Given the description of an element on the screen output the (x, y) to click on. 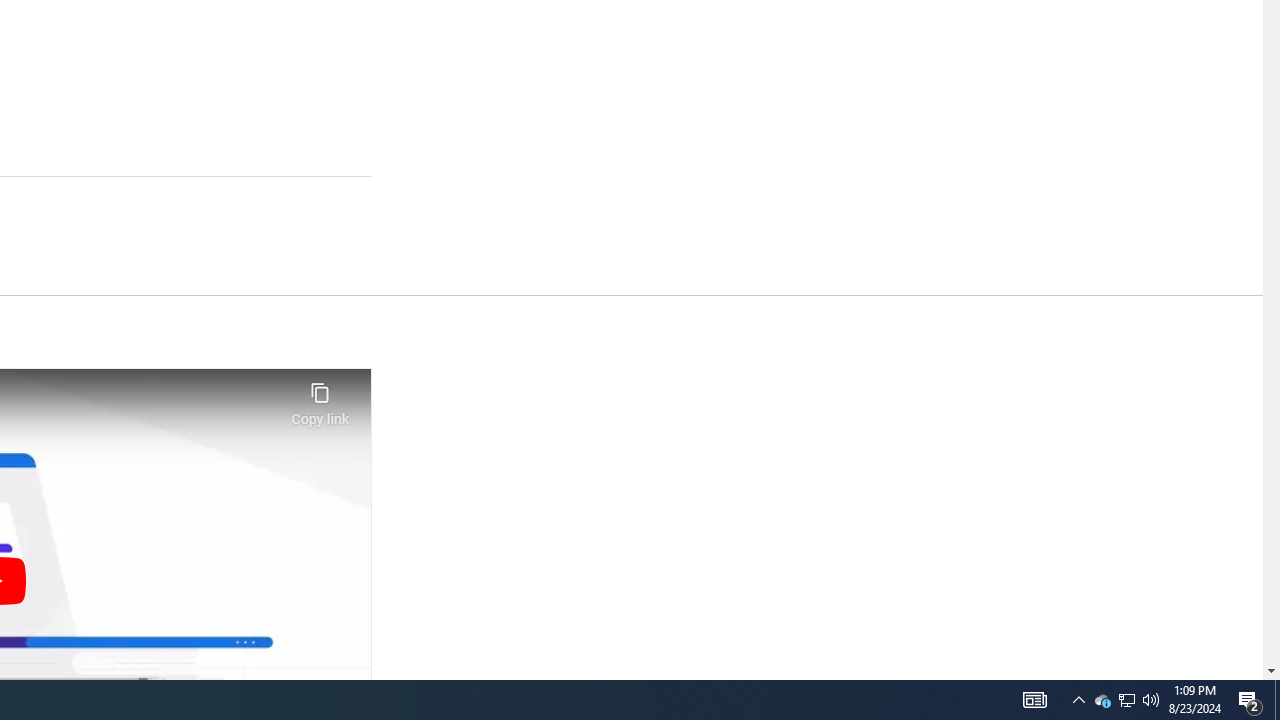
Copy link (319, 398)
